Given the description of an element on the screen output the (x, y) to click on. 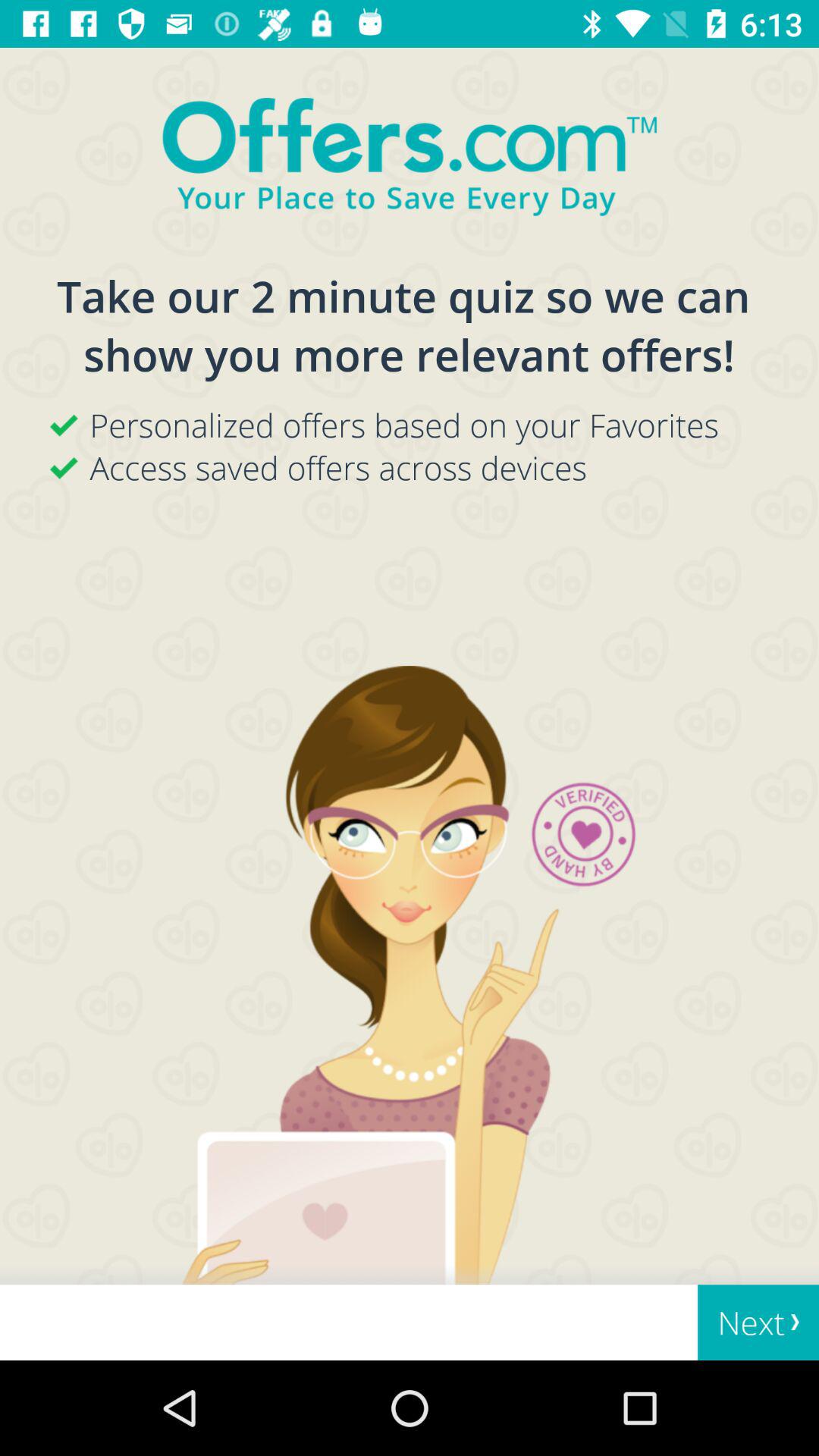
scroll until next (758, 1322)
